Given the description of an element on the screen output the (x, y) to click on. 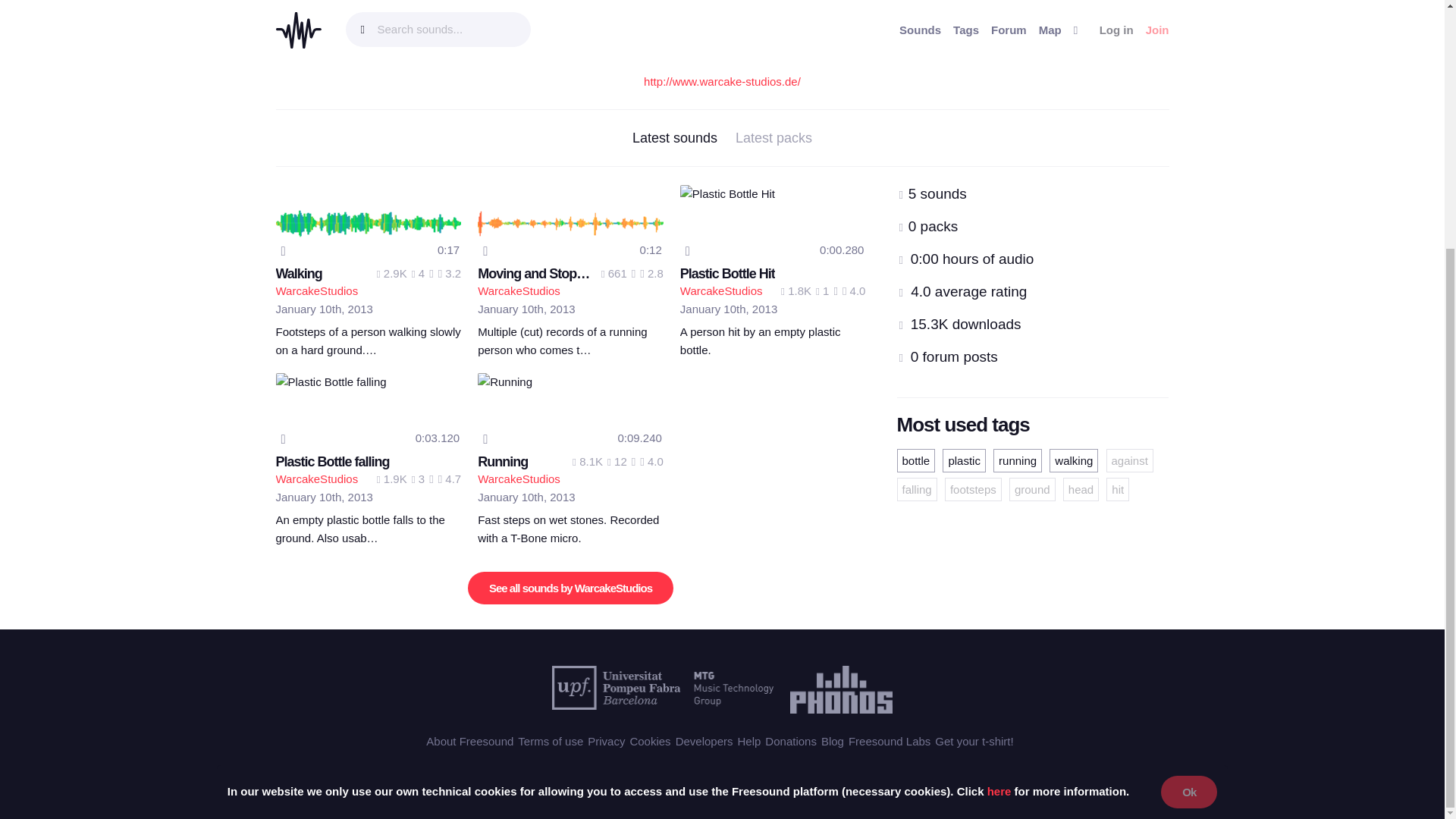
Username: WarcakeStudios (317, 290)
here (999, 443)
Moving and Stopping (539, 273)
Walking (298, 273)
Username: WarcakeStudios (518, 290)
Website warcake-studios.de (541, 49)
Ok (1188, 444)
661 downloads (614, 273)
2873 downloads (392, 273)
